Given the description of an element on the screen output the (x, y) to click on. 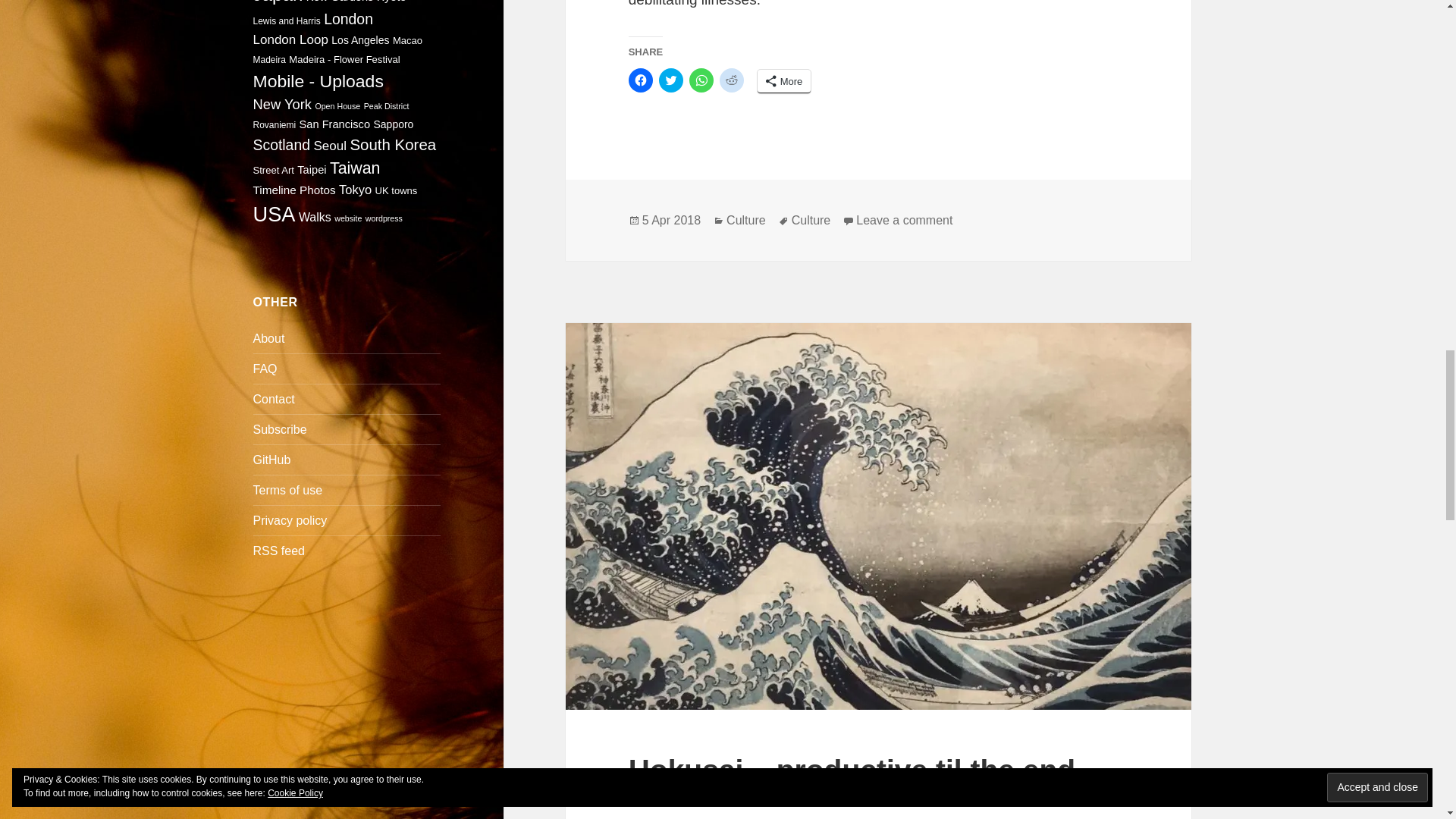
Lewis and Harris (286, 20)
Click to share on Facebook (640, 79)
Click to share on Reddit (731, 79)
Japan (277, 2)
Kyoto (391, 1)
London (347, 18)
Kew Gardens (339, 1)
Click to share on WhatsApp (700, 79)
Click to share on Twitter (670, 79)
